Given the description of an element on the screen output the (x, y) to click on. 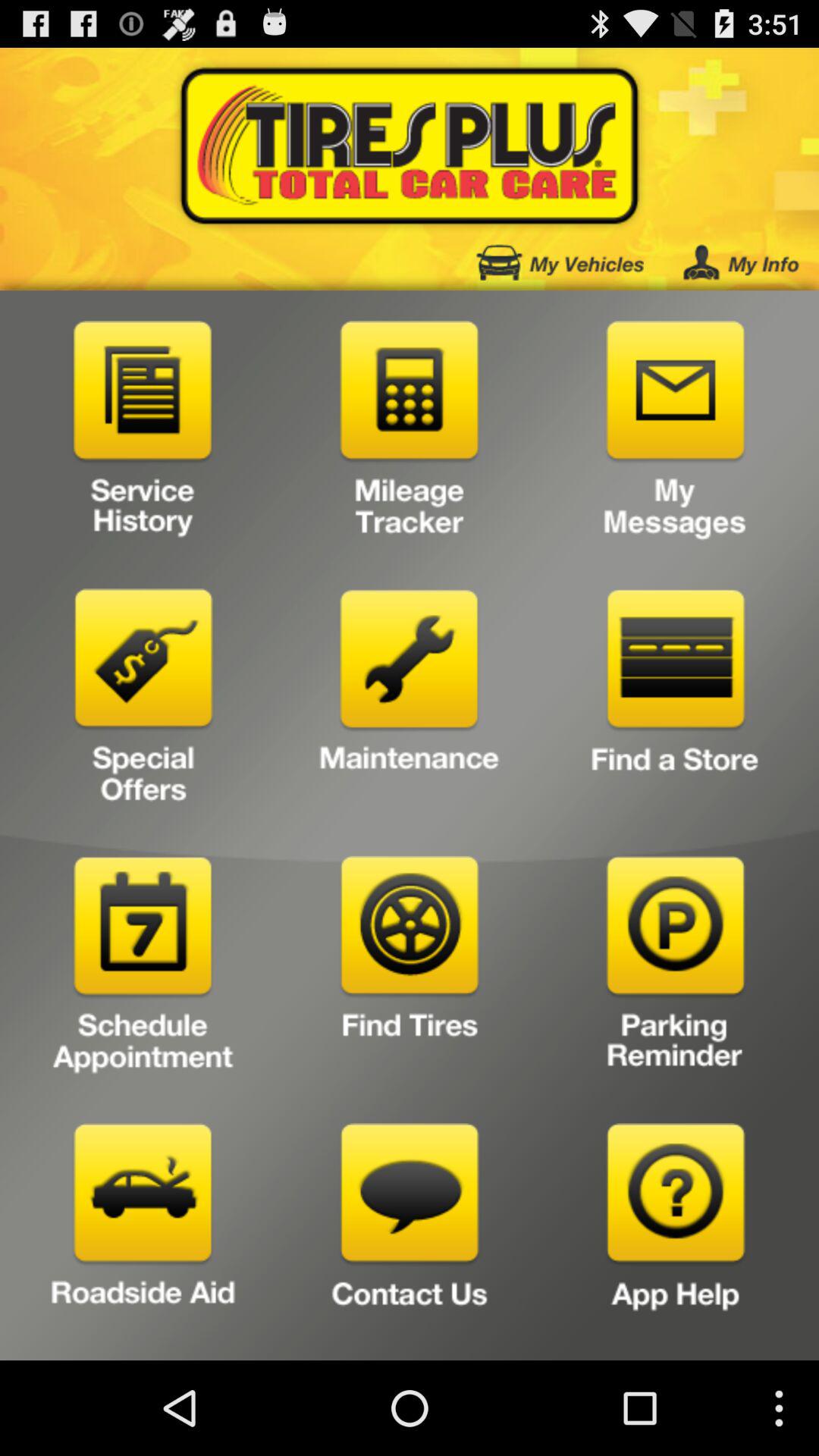
service (142, 434)
